Given the description of an element on the screen output the (x, y) to click on. 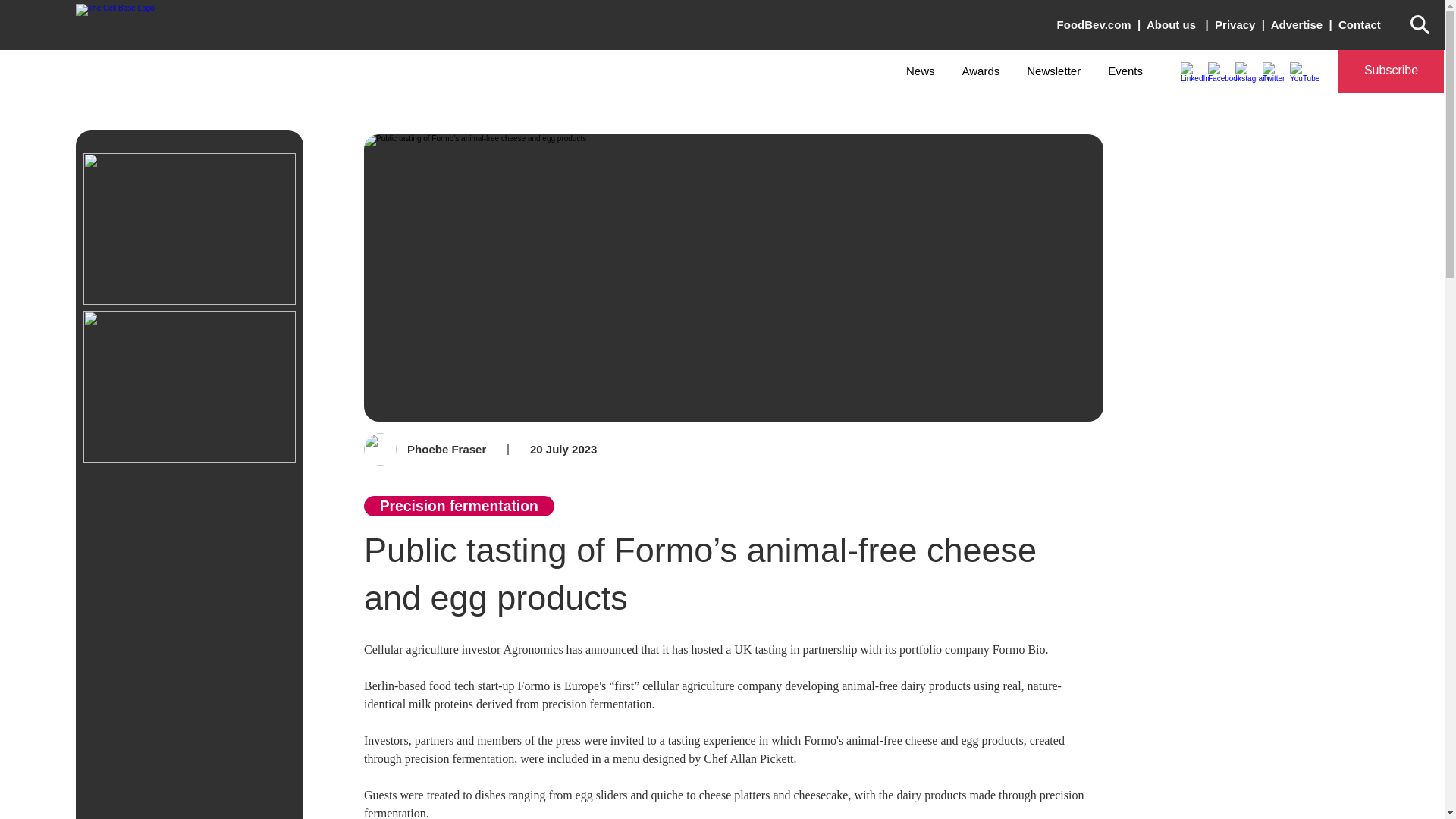
Advertise  (1298, 24)
Newsletter (1053, 70)
Awards (575, 70)
Events (981, 70)
About us (1125, 70)
Privacy (1171, 24)
FoodBev.com (1234, 24)
Subscribe (1094, 24)
Contact  (1391, 70)
